Given the description of an element on the screen output the (x, y) to click on. 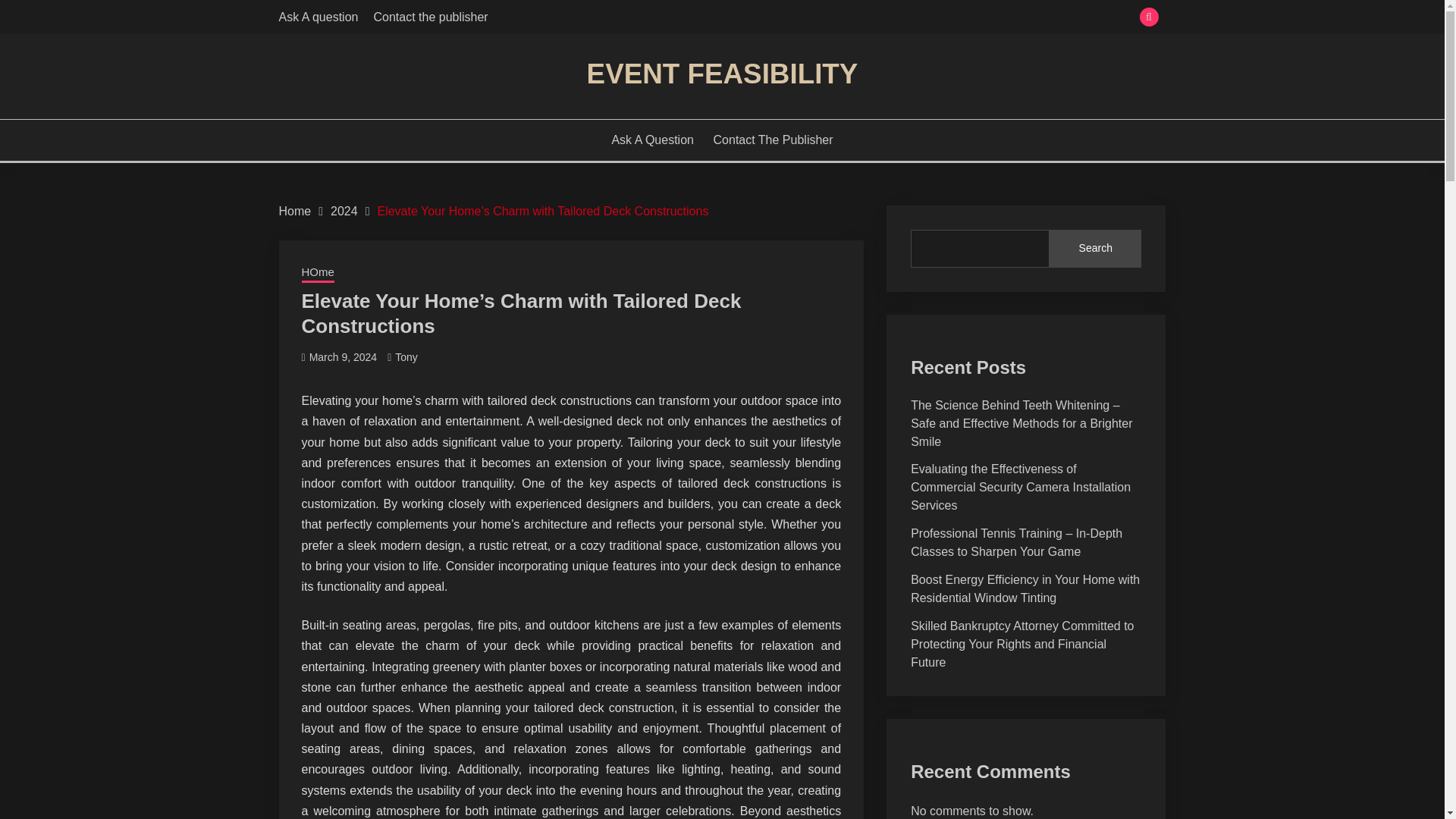
2024 (344, 210)
Contact The Publisher (772, 140)
Search (832, 18)
Tony (405, 357)
EVENT FEASIBILITY (722, 73)
Ask A question (318, 16)
Ask A Question (652, 140)
HOme (317, 273)
March 9, 2024 (342, 357)
Home (295, 210)
Search (1095, 248)
Contact the publisher (429, 16)
